Given the description of an element on the screen output the (x, y) to click on. 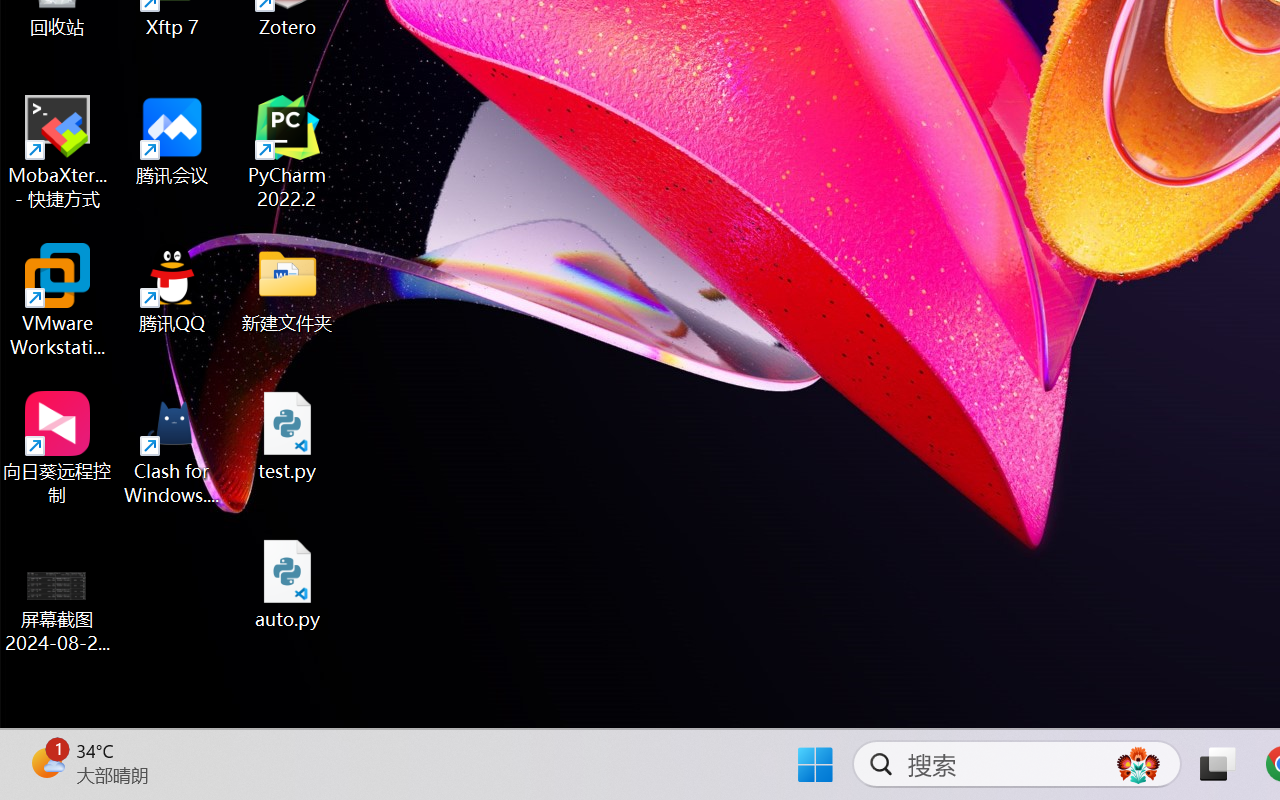
test.py (287, 436)
VMware Workstation Pro (57, 300)
